Given the description of an element on the screen output the (x, y) to click on. 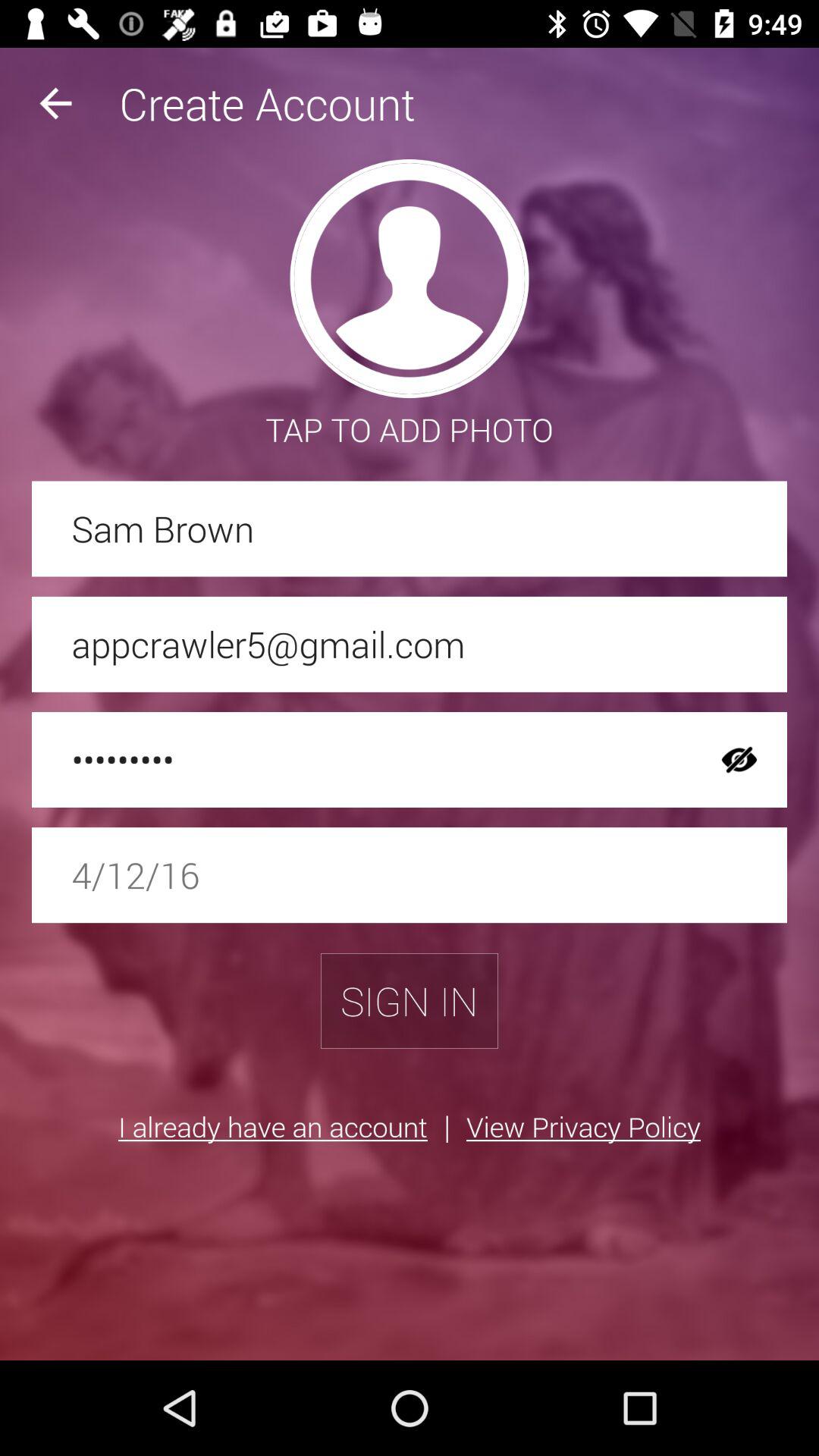
turn on the item above the 4/12/16 item (739, 759)
